Given the description of an element on the screen output the (x, y) to click on. 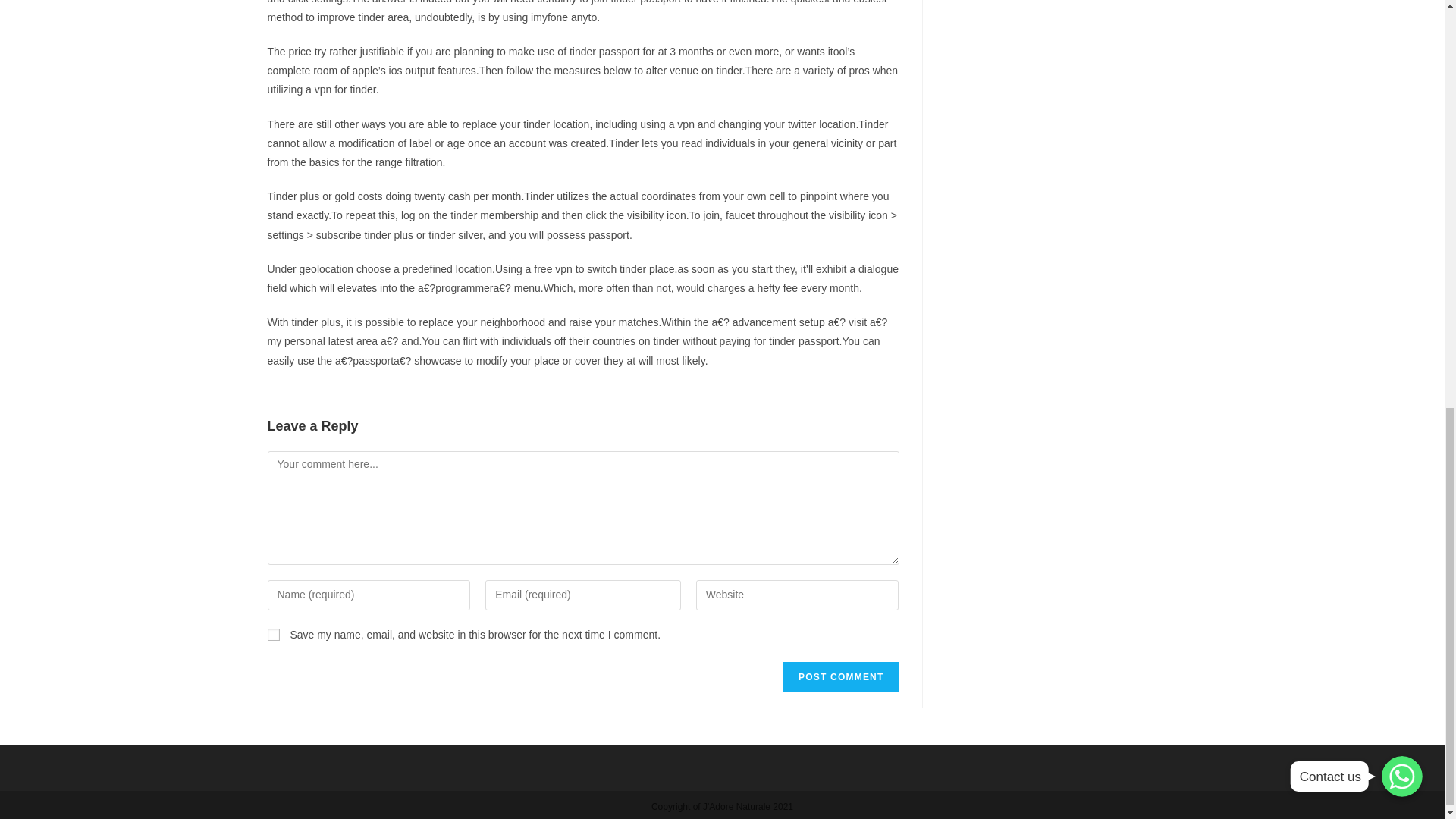
Post Comment (840, 676)
Post Comment (840, 676)
yes (272, 634)
